Given the description of an element on the screen output the (x, y) to click on. 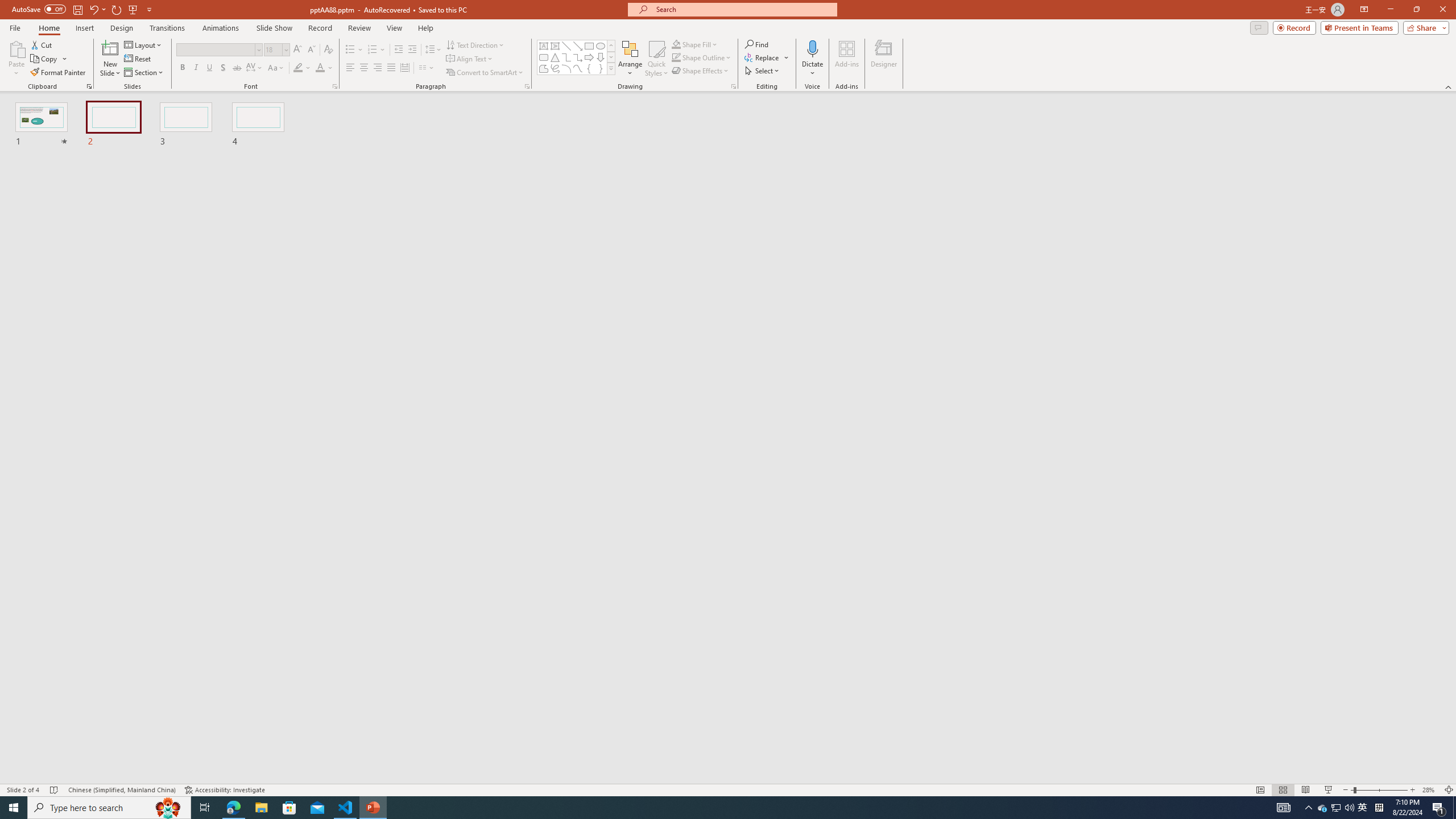
Character Spacing (254, 67)
Shape Outline (701, 56)
Arrange (630, 58)
Paragraph... (526, 85)
Line (566, 45)
Section (144, 72)
Curve (577, 68)
Format Painter (58, 72)
Shadow (223, 67)
